Given the description of an element on the screen output the (x, y) to click on. 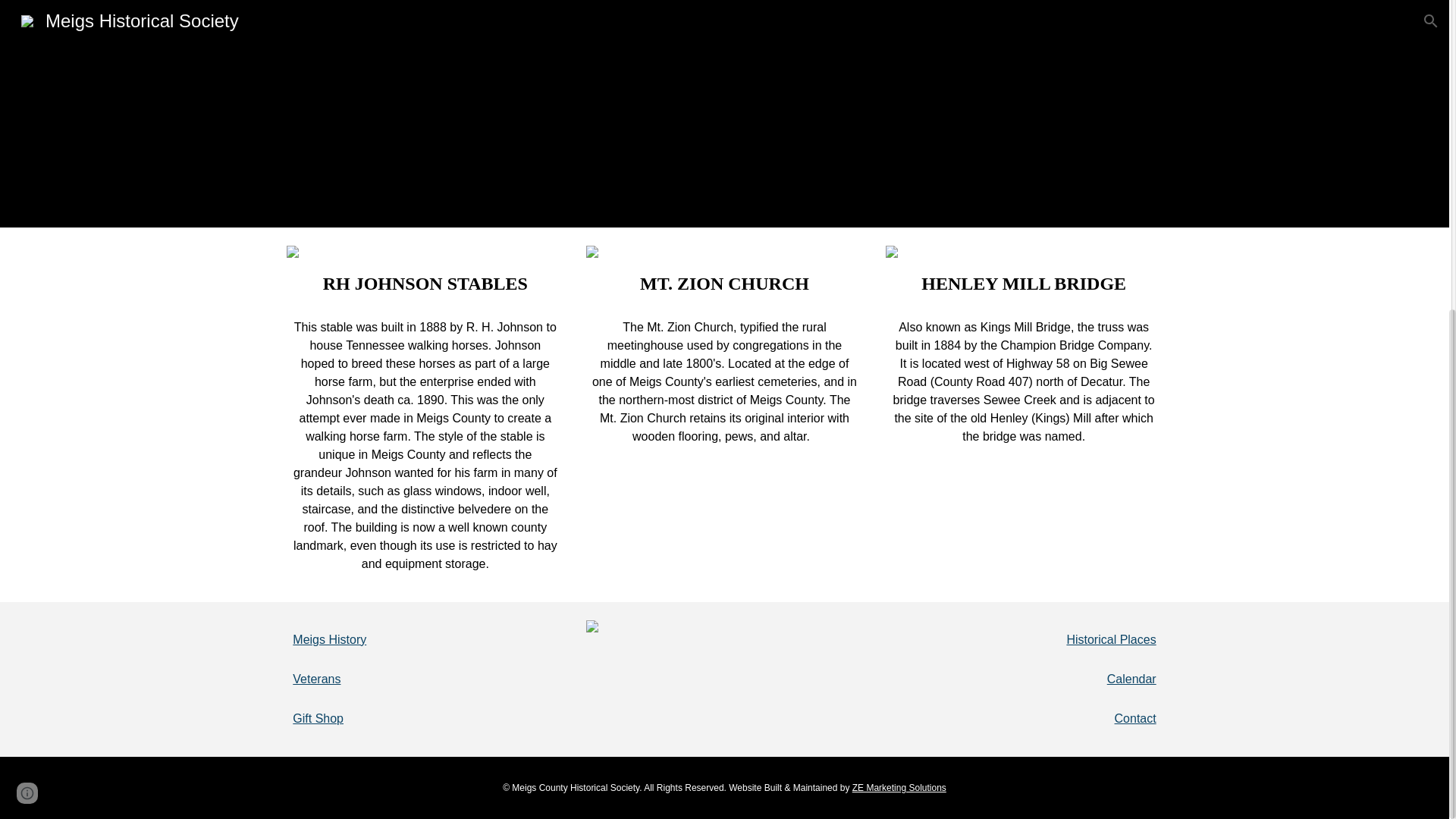
Gift Shop (317, 717)
Contact (1135, 717)
Veterans (316, 678)
Meigs History (329, 639)
Historical Places (1110, 639)
Calendar (1131, 678)
